Given the description of an element on the screen output the (x, y) to click on. 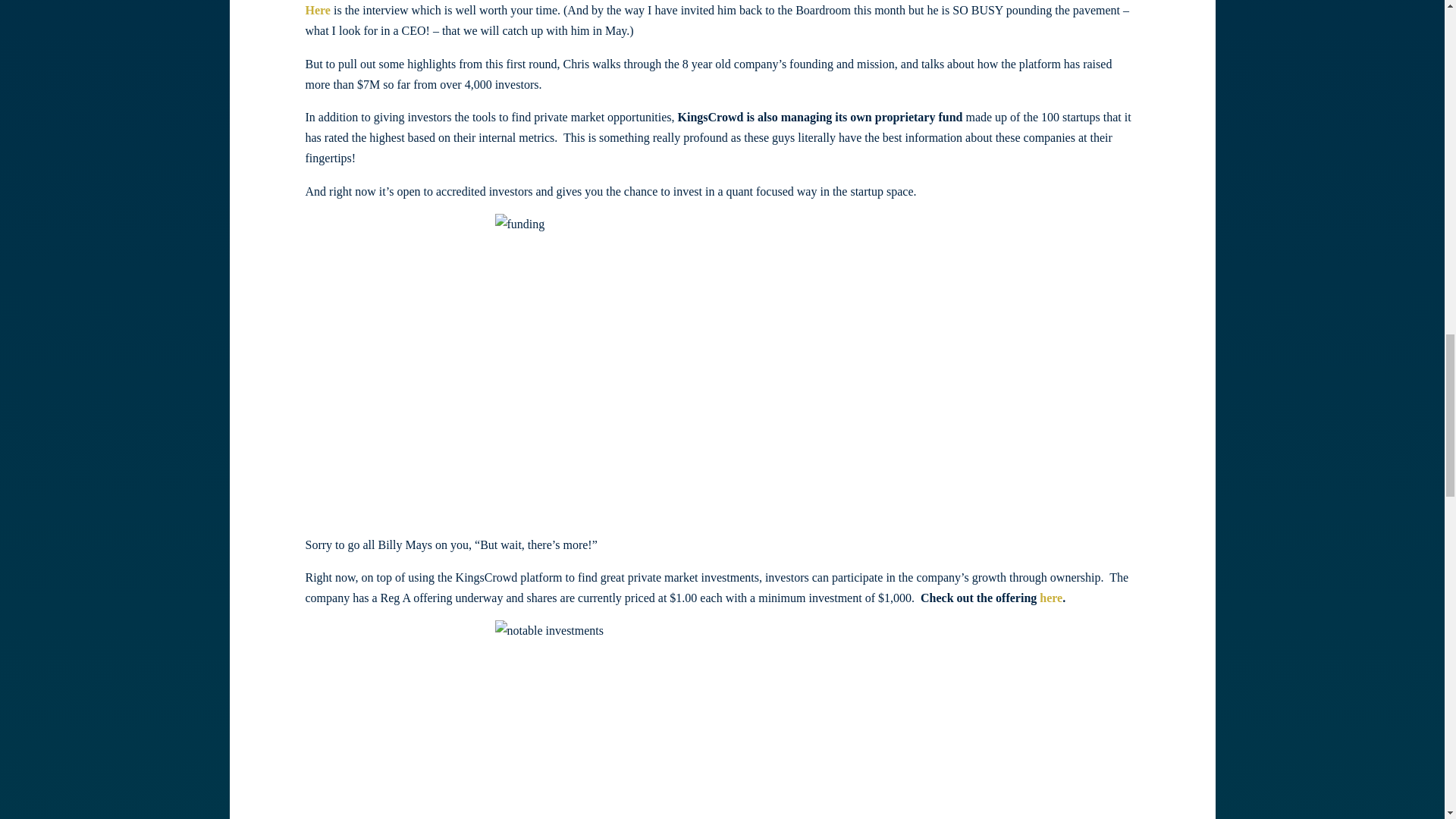
Here (317, 10)
here (1050, 597)
